Given the description of an element on the screen output the (x, y) to click on. 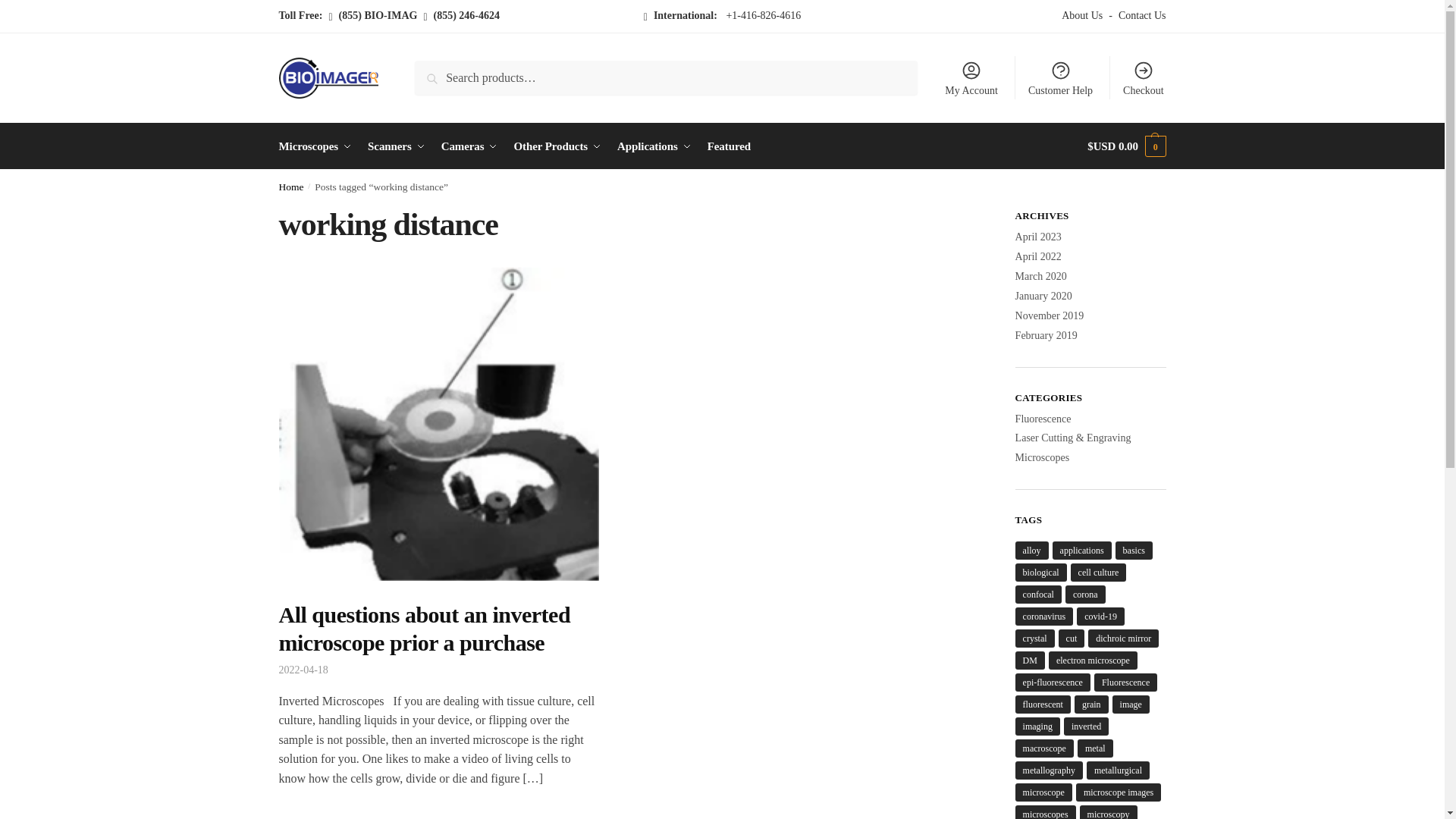
Contact Us (1139, 16)
Search (435, 70)
Customer Help (1060, 77)
Microscopes (318, 145)
Checkout (1143, 77)
About Us (1084, 16)
View your shopping cart (1126, 145)
My Account (971, 77)
